Given the description of an element on the screen output the (x, y) to click on. 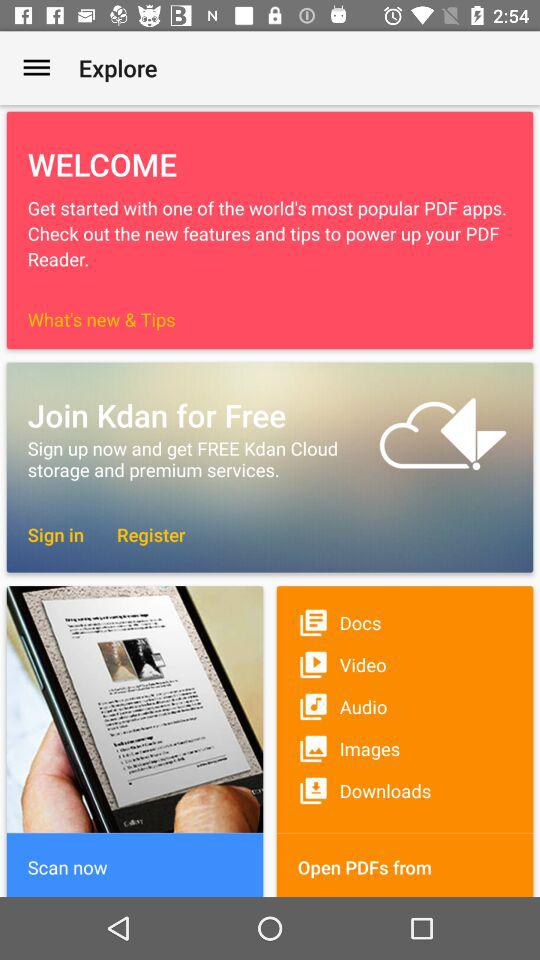
flip until sign in icon (55, 534)
